Given the description of an element on the screen output the (x, y) to click on. 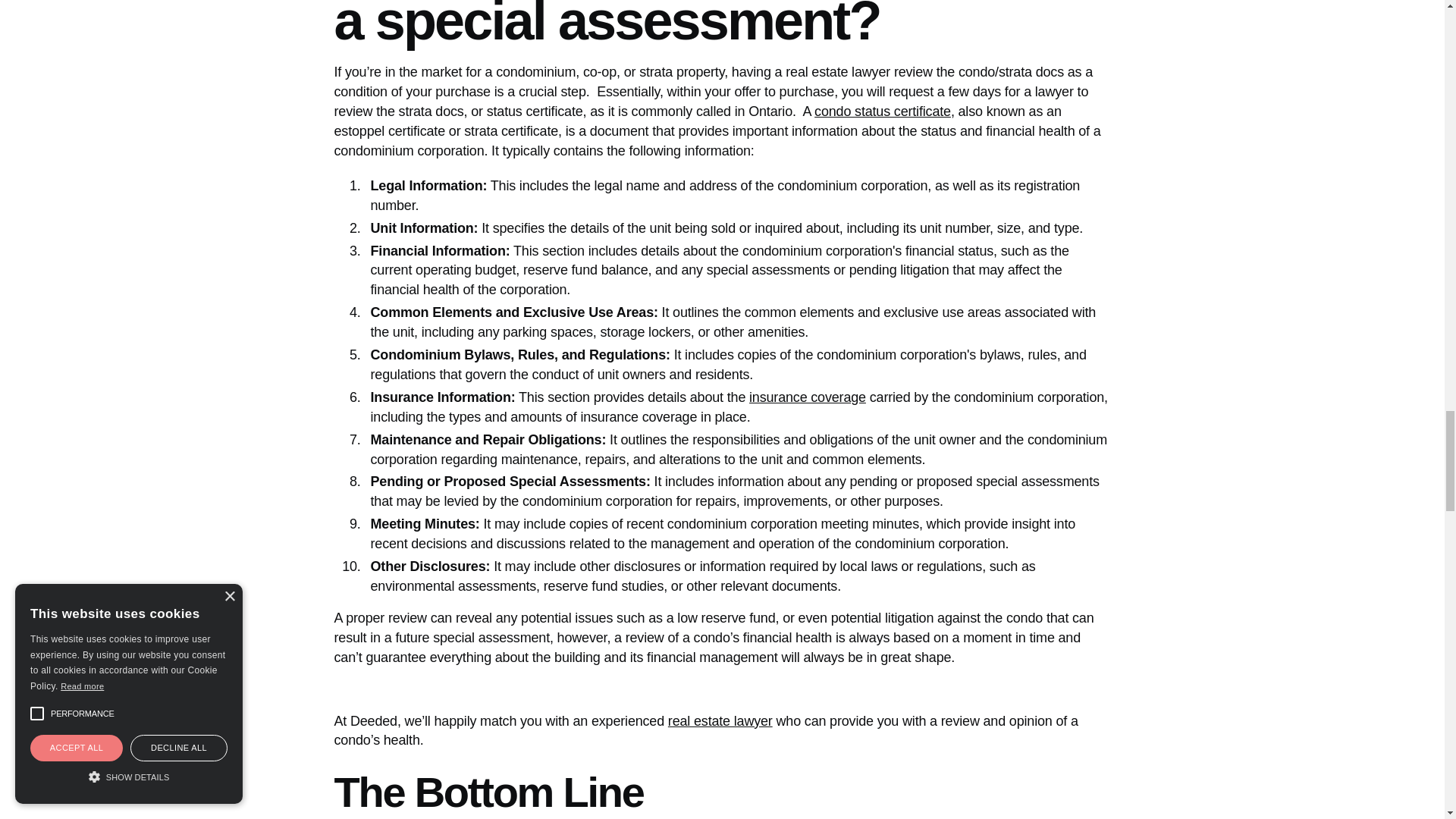
real estate lawyer (720, 720)
insurance coverage (807, 396)
condo status certificate (881, 111)
